Given the description of an element on the screen output the (x, y) to click on. 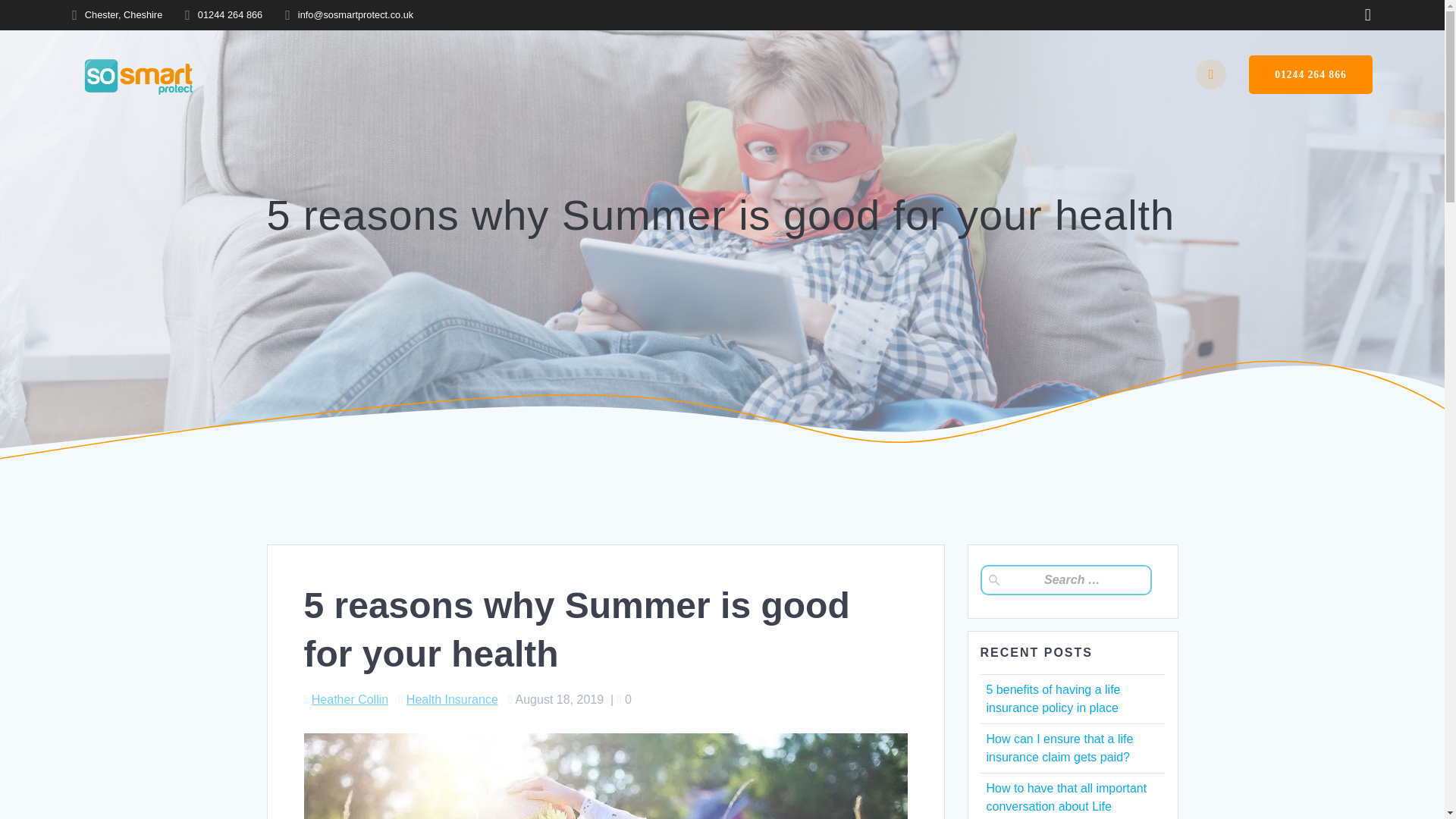
Heather Collin (349, 698)
01244 264 866 (1311, 74)
Posts by Heather Collin (349, 698)
Health Insurance (451, 698)
